Given the description of an element on the screen output the (x, y) to click on. 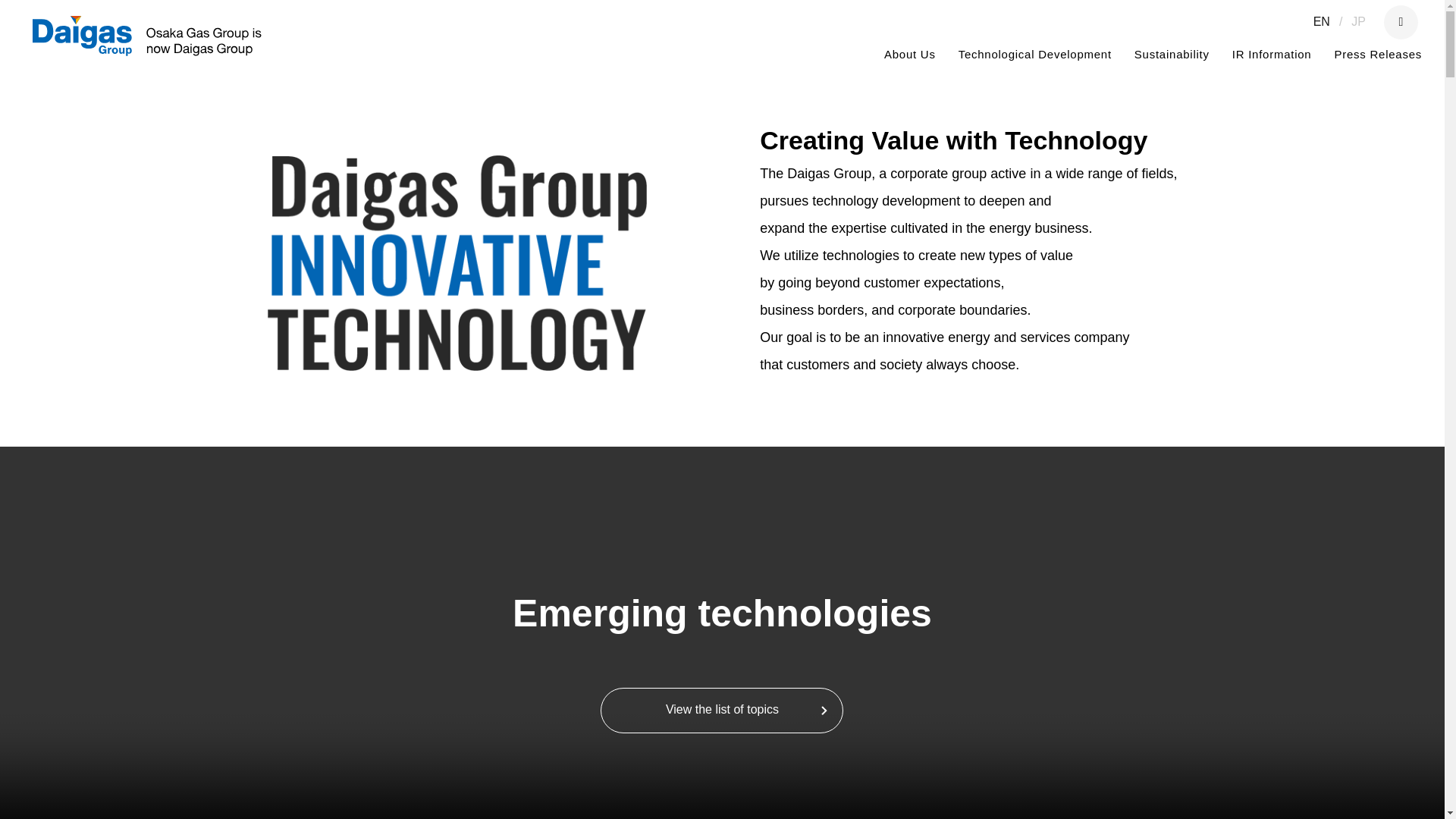
IR Information (1271, 54)
View the list of topics (721, 709)
JP (1358, 20)
Search (1369, 80)
About Us (909, 54)
EN (1321, 20)
Technological Development (1035, 54)
Sustainability (1171, 54)
Press Releases (1377, 54)
